Given the description of an element on the screen output the (x, y) to click on. 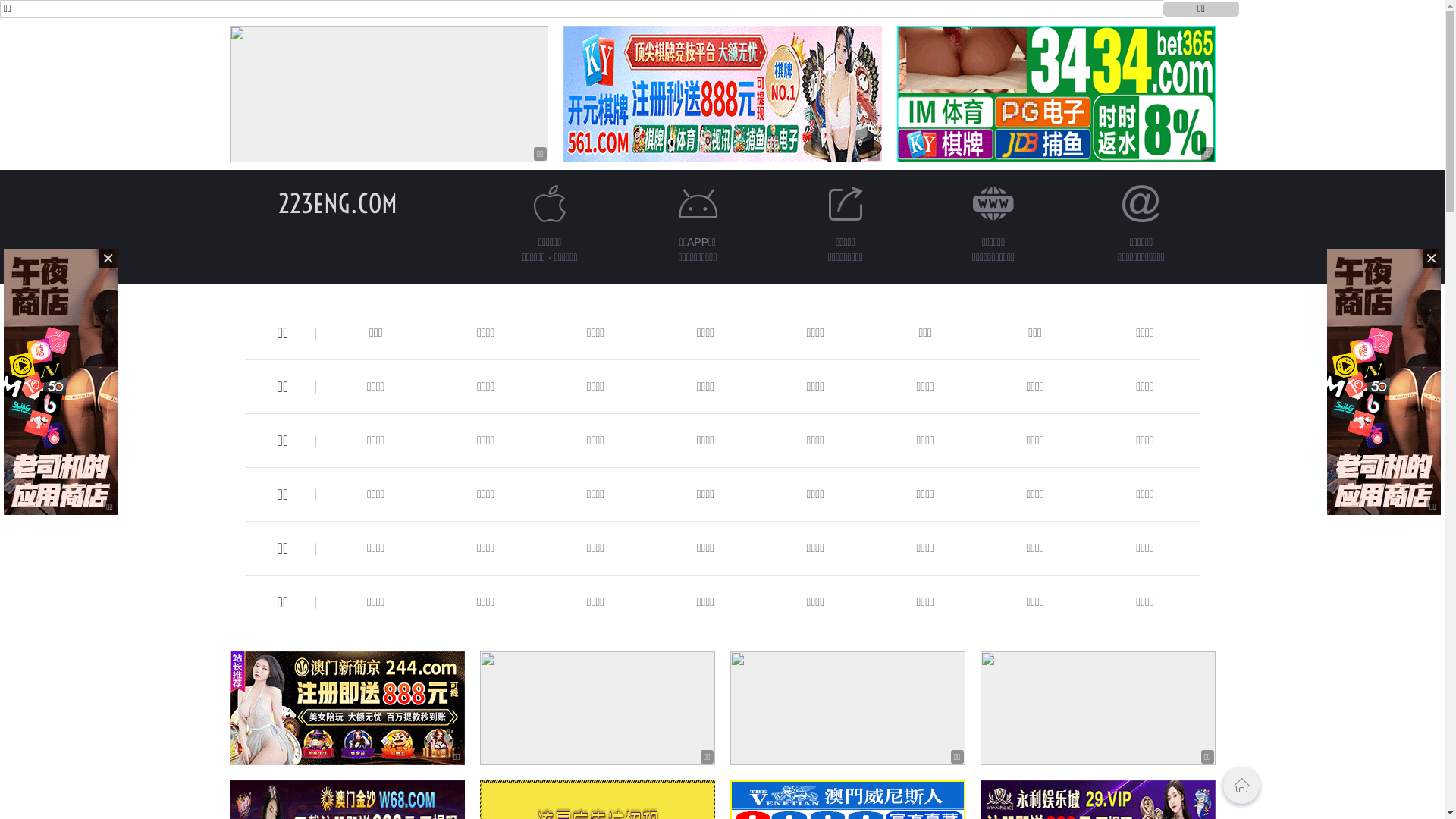
223ENG.COM Element type: text (337, 203)
